Given the description of an element on the screen output the (x, y) to click on. 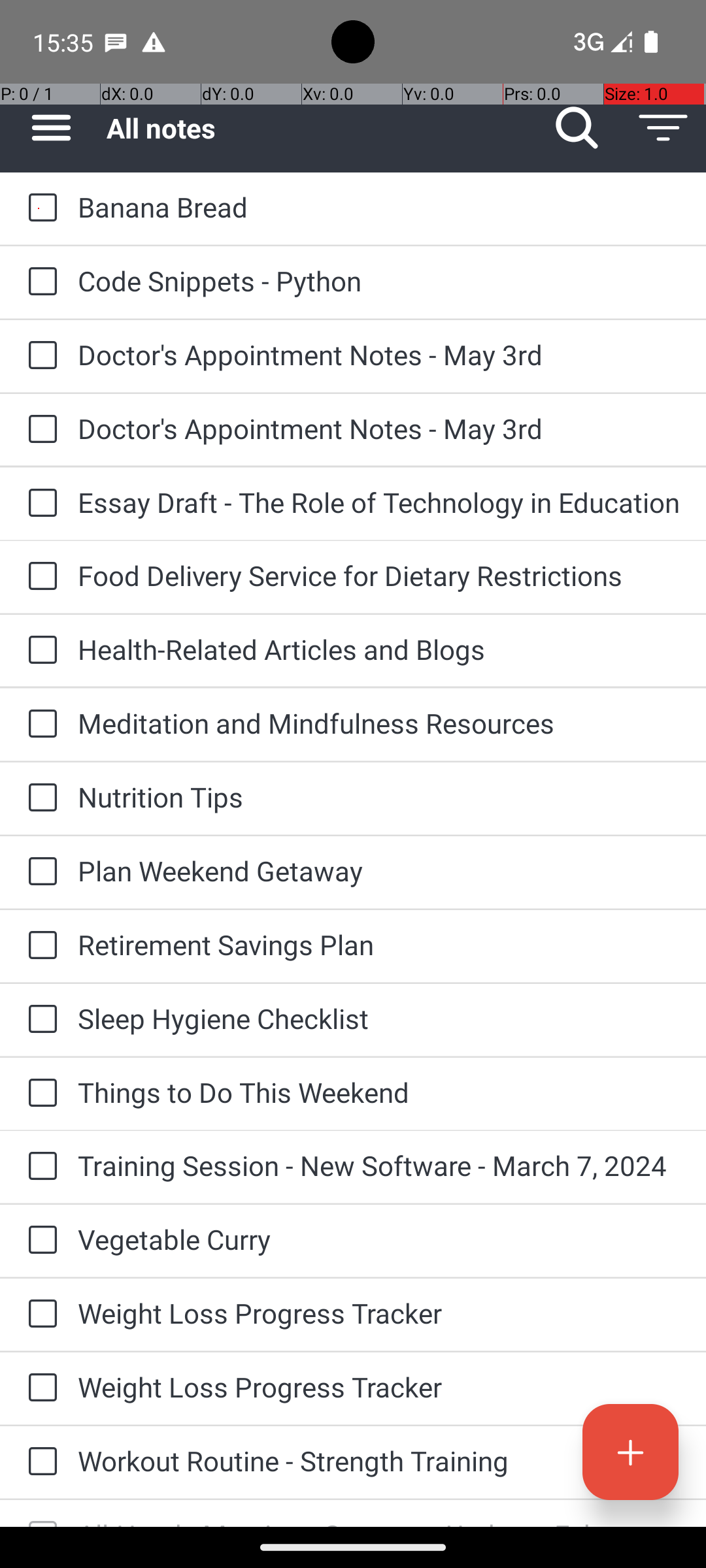
Add new, collapsed Element type: android.widget.Button (630, 1452)
 Element type: android.widget.TextView (630, 1451)
to-do: Banana Bread Element type: android.widget.CheckBox (38, 208)
Banana Bread Element type: android.widget.TextView (378, 206)
to-do: Code Snippets - Python Element type: android.widget.CheckBox (38, 282)
Code Snippets - Python Element type: android.widget.TextView (378, 280)
to-do: Doctor's Appointment Notes - May 3rd Element type: android.widget.CheckBox (38, 356)
Doctor's Appointment Notes - May 3rd Element type: android.widget.TextView (378, 354)
to-do: Food Delivery Service for Dietary Restrictions Element type: android.widget.CheckBox (38, 576)
Food Delivery Service for Dietary Restrictions Element type: android.widget.TextView (378, 574)
to-do: Health-Related Articles and Blogs Element type: android.widget.CheckBox (38, 650)
Health-Related Articles and Blogs Element type: android.widget.TextView (378, 648)
to-do: Meditation and Mindfulness Resources Element type: android.widget.CheckBox (38, 724)
Meditation and Mindfulness Resources Element type: android.widget.TextView (378, 722)
to-do: Nutrition Tips Element type: android.widget.CheckBox (38, 798)
Nutrition Tips Element type: android.widget.TextView (378, 796)
to-do: Plan Weekend Getaway Element type: android.widget.CheckBox (38, 872)
Plan Weekend Getaway Element type: android.widget.TextView (378, 870)
to-do: Retirement Savings Plan Element type: android.widget.CheckBox (38, 945)
Retirement Savings Plan Element type: android.widget.TextView (378, 944)
to-do: Sleep Hygiene Checklist Element type: android.widget.CheckBox (38, 1019)
Sleep Hygiene Checklist Element type: android.widget.TextView (378, 1017)
to-do: Things to Do This Weekend Element type: android.widget.CheckBox (38, 1093)
Things to Do This Weekend Element type: android.widget.TextView (378, 1091)
to-do: Training Session - New Software - March 7, 2024 Element type: android.widget.CheckBox (38, 1166)
Training Session - New Software - March 7, 2024 Element type: android.widget.TextView (378, 1164)
to-do: Vegetable Curry Element type: android.widget.CheckBox (38, 1240)
Vegetable Curry Element type: android.widget.TextView (378, 1238)
to-do: Weight Loss Progress Tracker Element type: android.widget.CheckBox (38, 1314)
Weight Loss Progress Tracker Element type: android.widget.TextView (378, 1312)
to-do: Workout Routine - Strength Training Element type: android.widget.CheckBox (38, 1462)
Workout Routine - Strength Training Element type: android.widget.TextView (378, 1460)
to-do: All-Hands Meeting - Company Update - February 7, 2024 Element type: android.widget.CheckBox (38, 1513)
All-Hands Meeting - Company Update - February 7, 2024 Element type: android.widget.TextView (378, 1520)
 Element type: android.widget.TextView (42, 1521)
